Given the description of an element on the screen output the (x, y) to click on. 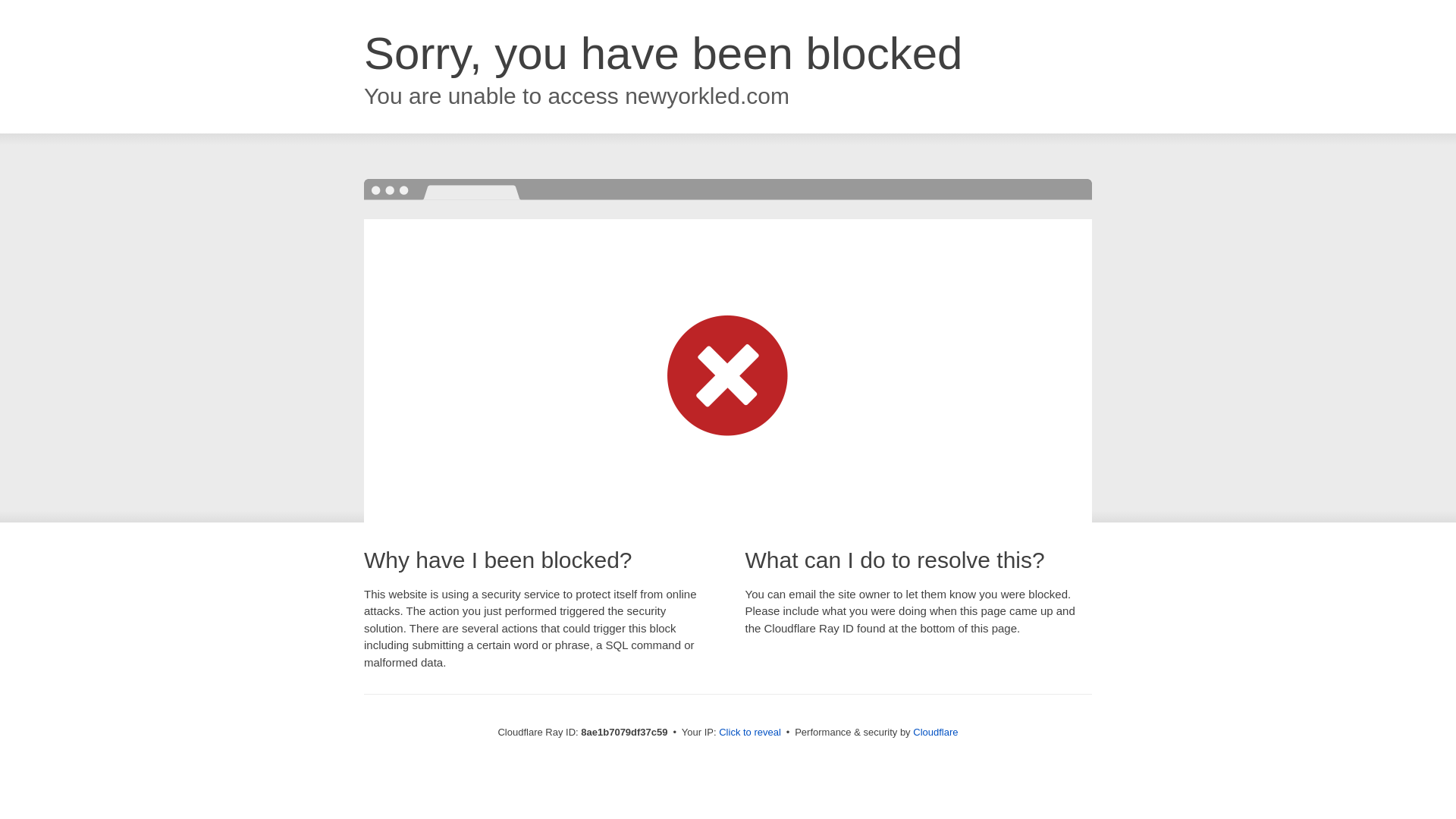
Cloudflare (935, 731)
Click to reveal (749, 732)
